Given the description of an element on the screen output the (x, y) to click on. 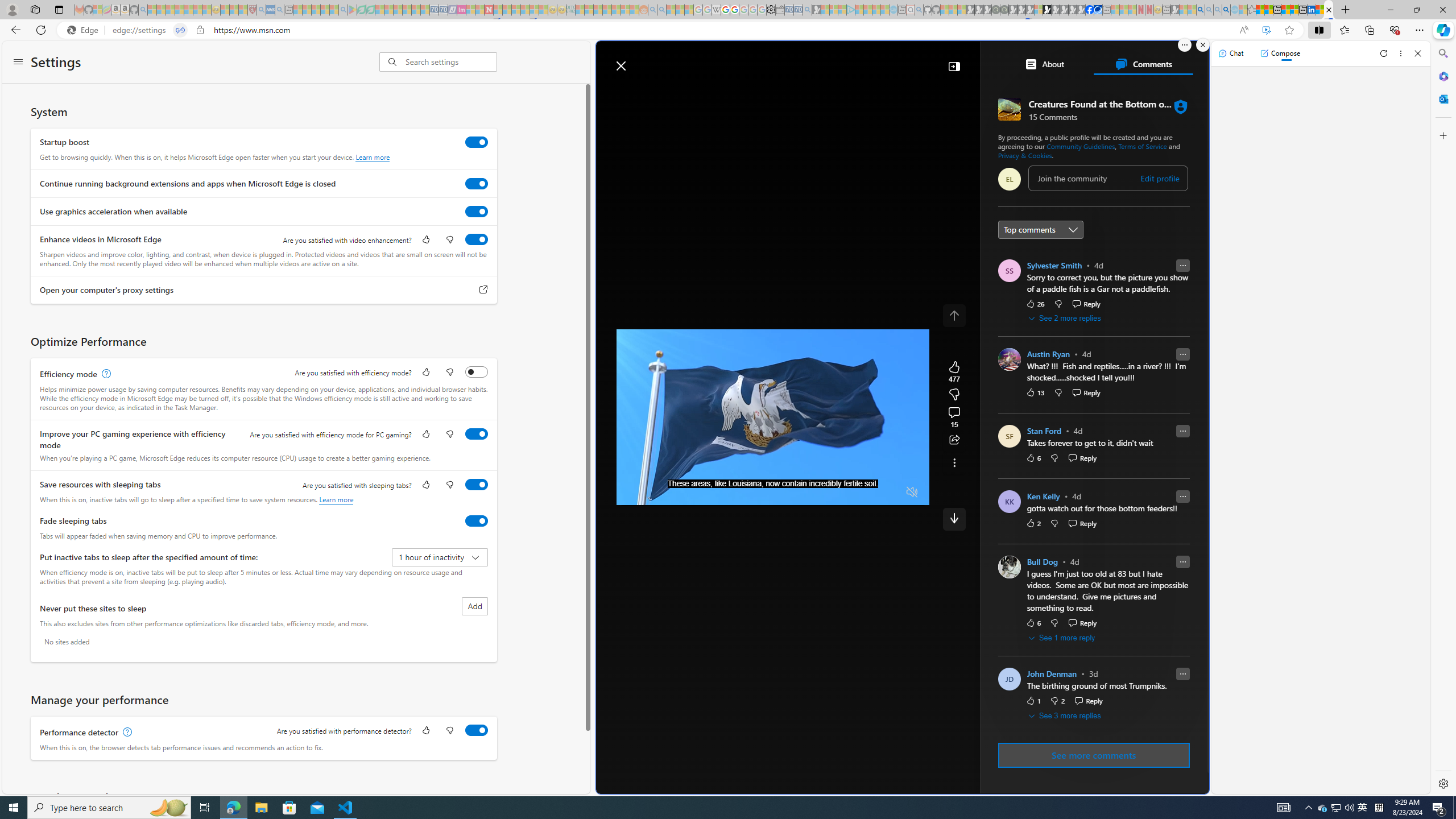
Privacy & Cookies (1024, 154)
Class: button-glyph (644, 92)
14 Common Myths Debunked By Scientific Facts - Sleeping (506, 9)
Bluey: Let's Play! - Apps on Google Play - Sleeping (352, 9)
Enhance video (1266, 29)
New Report Confirms 2023 Was Record Hot | Watch - Sleeping (188, 9)
Ken Kelly (1042, 496)
